Given the description of an element on the screen output the (x, y) to click on. 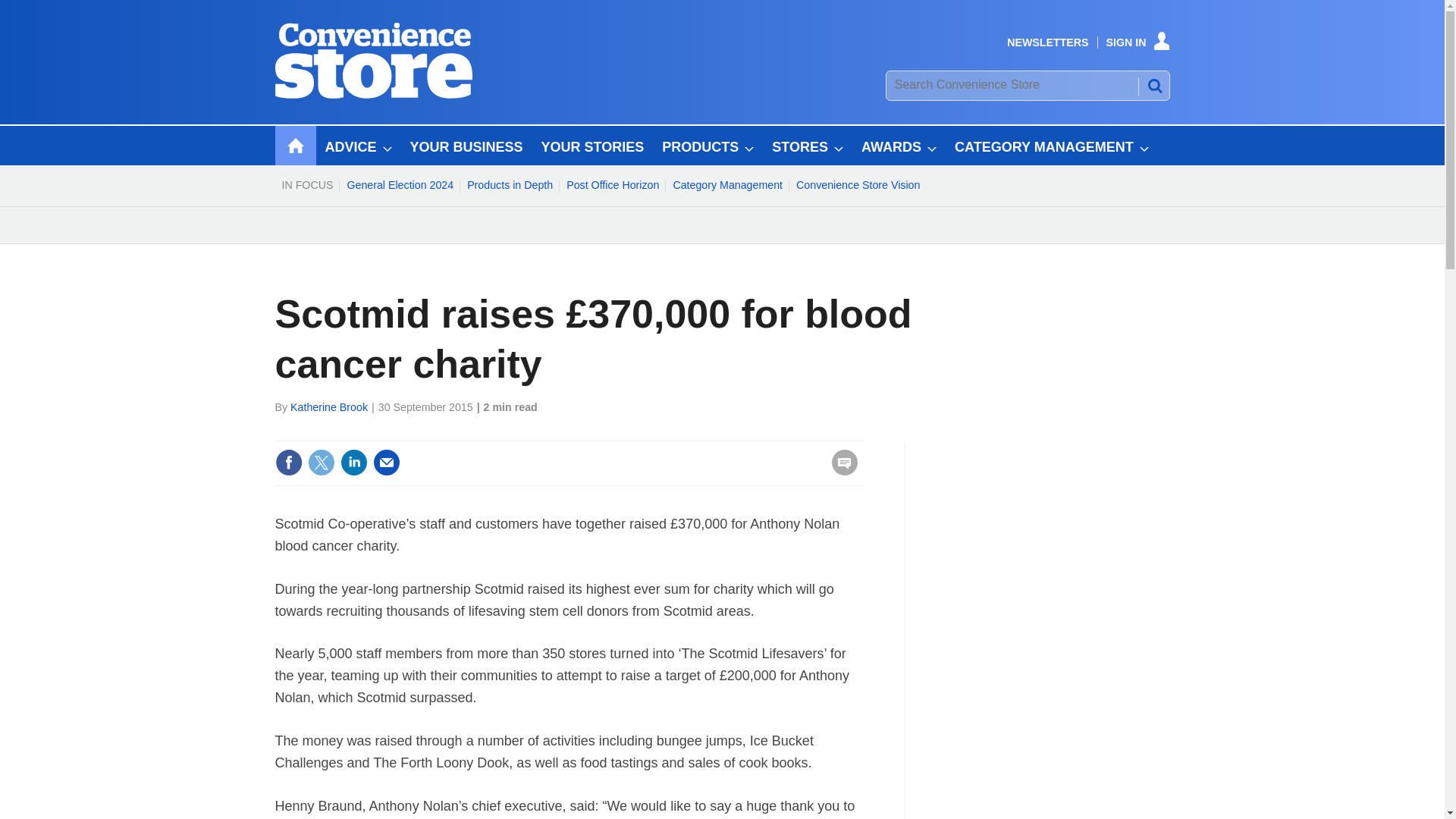
Post Office Horizon (612, 184)
Category Management (727, 184)
NEWSLETTERS (1047, 42)
Products in Depth (509, 184)
SIGN IN (1138, 42)
No comments (840, 471)
General Election 2024 (399, 184)
Site name (373, 93)
Share this on Twitter (320, 461)
Email this article (386, 461)
Convenience Store Vision (857, 184)
Share this on Facebook (288, 461)
SEARCH (1153, 85)
Share this on Linked in (352, 461)
